Given the description of an element on the screen output the (x, y) to click on. 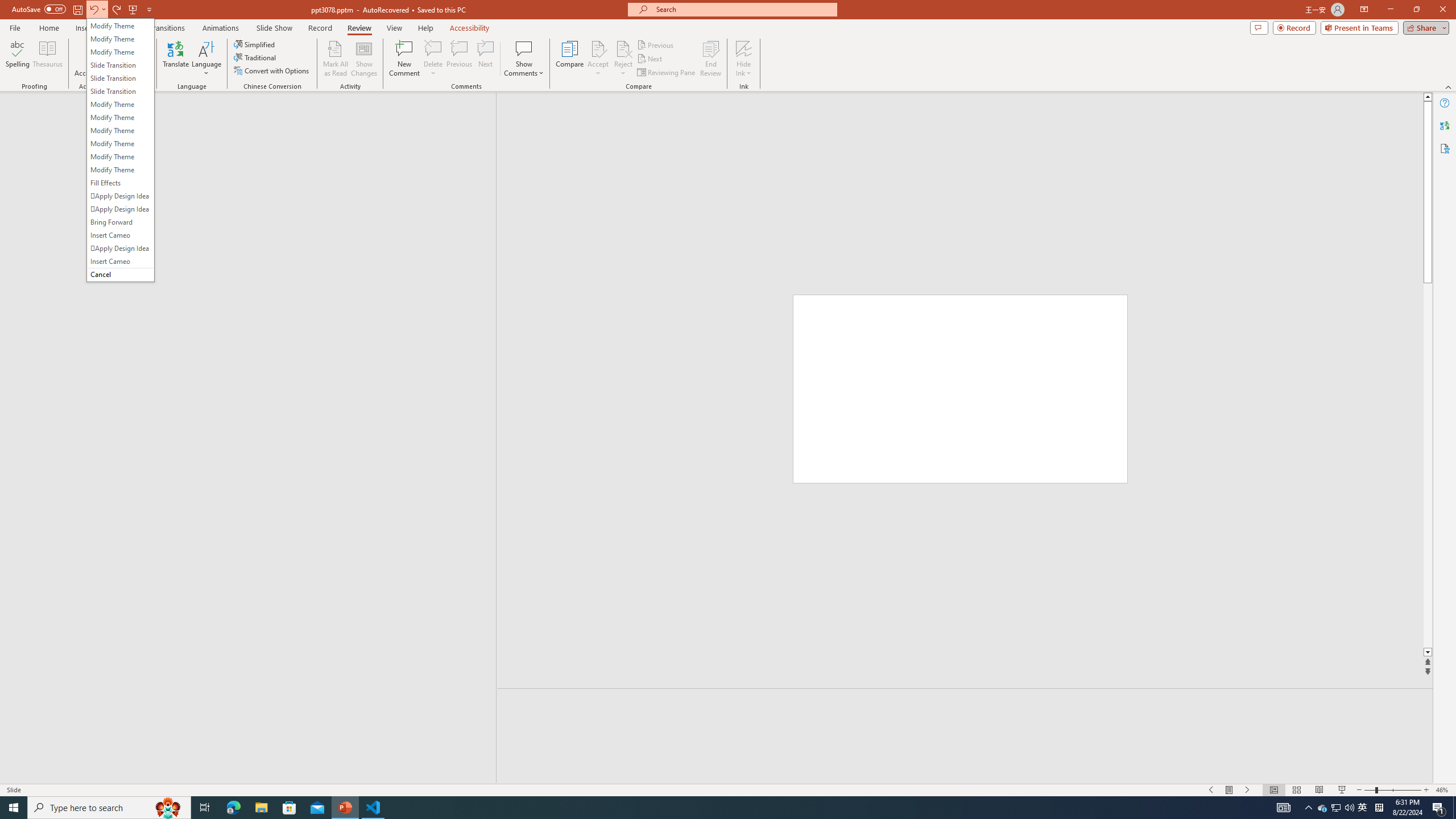
Notification Chevron (1335, 807)
Show desktop (1308, 807)
